Given the description of an element on the screen output the (x, y) to click on. 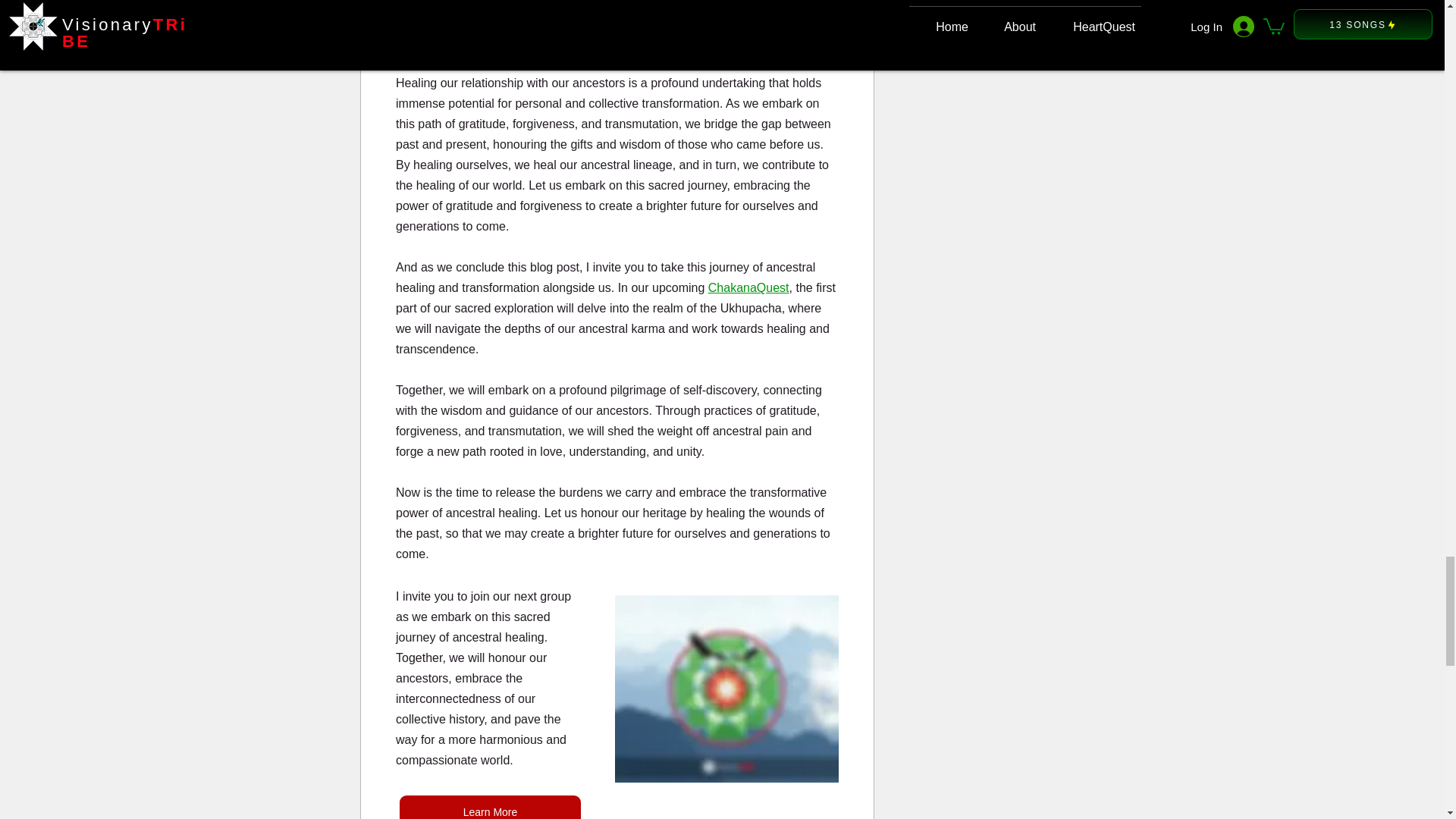
ChakanaQuest (748, 287)
Learn More (488, 807)
